Given the description of an element on the screen output the (x, y) to click on. 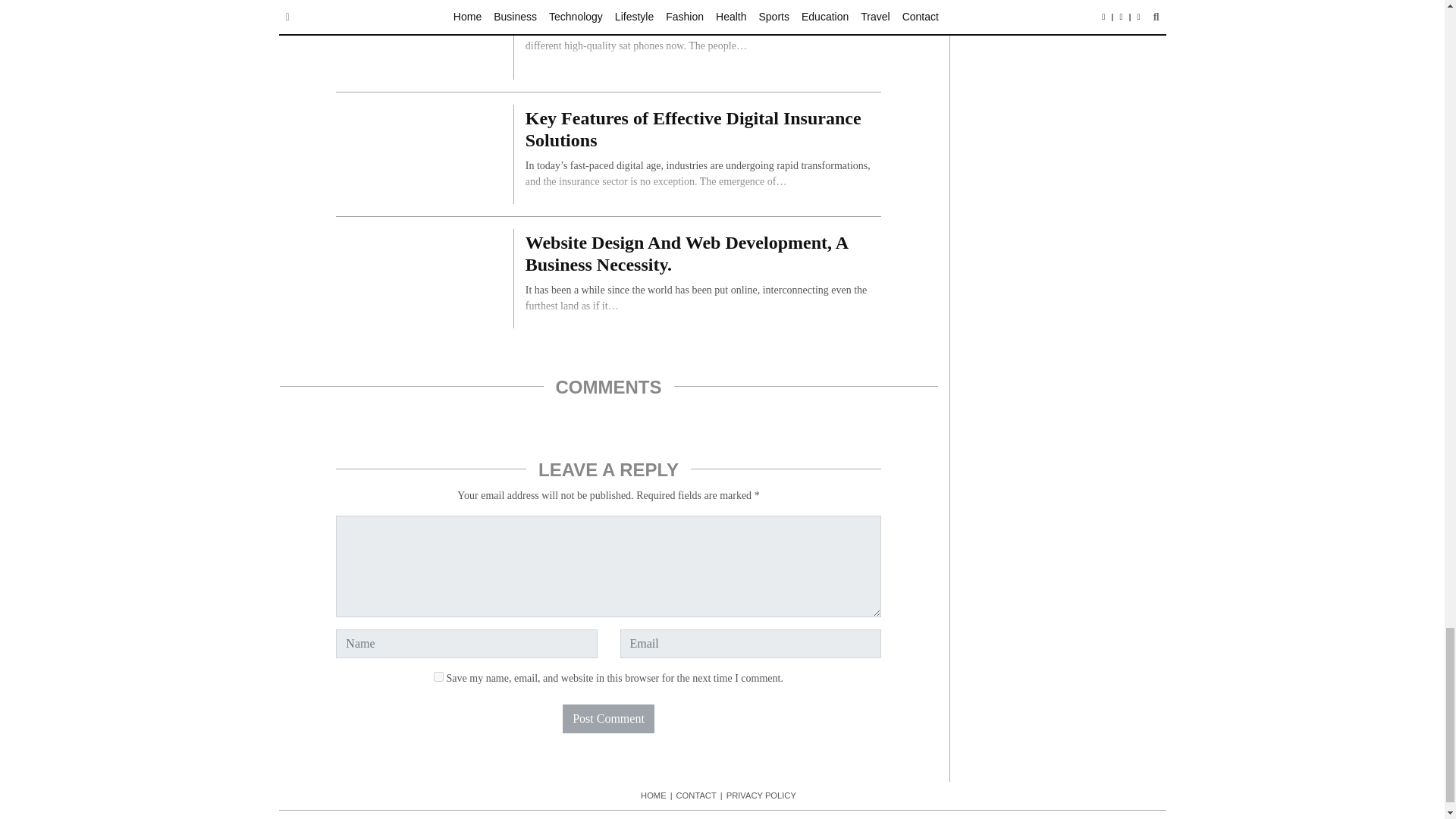
yes (438, 676)
Post Comment (607, 718)
